Given the description of an element on the screen output the (x, y) to click on. 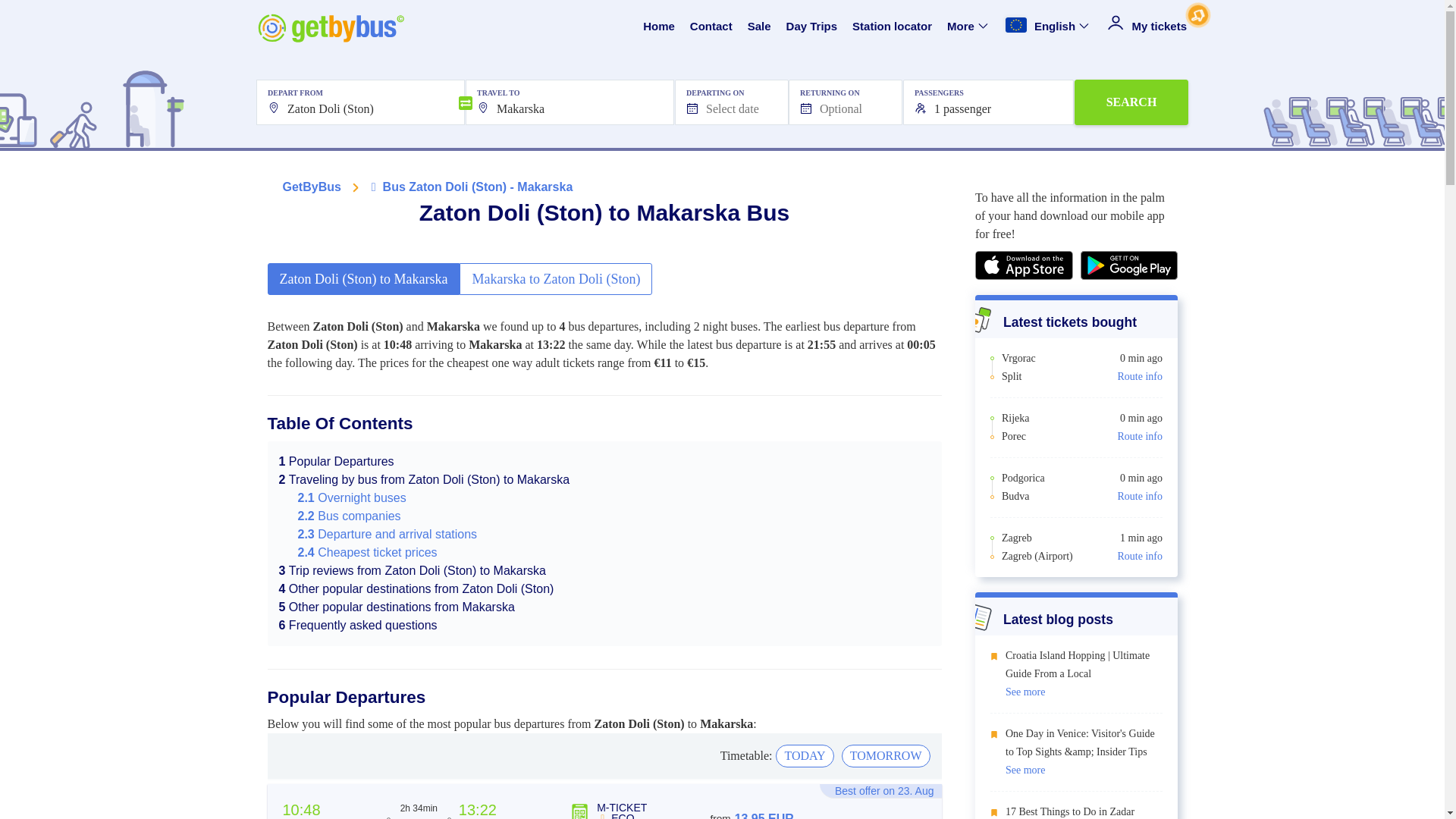
Frequently asked questions (358, 625)
Departure and arrival stations (387, 533)
Day Trips (812, 26)
SEARCH (1131, 102)
English (1048, 26)
Makarska (569, 102)
1 passenger (988, 102)
TODAY (804, 755)
Popular Departures (336, 461)
TOMORROW (885, 755)
